Given the description of an element on the screen output the (x, y) to click on. 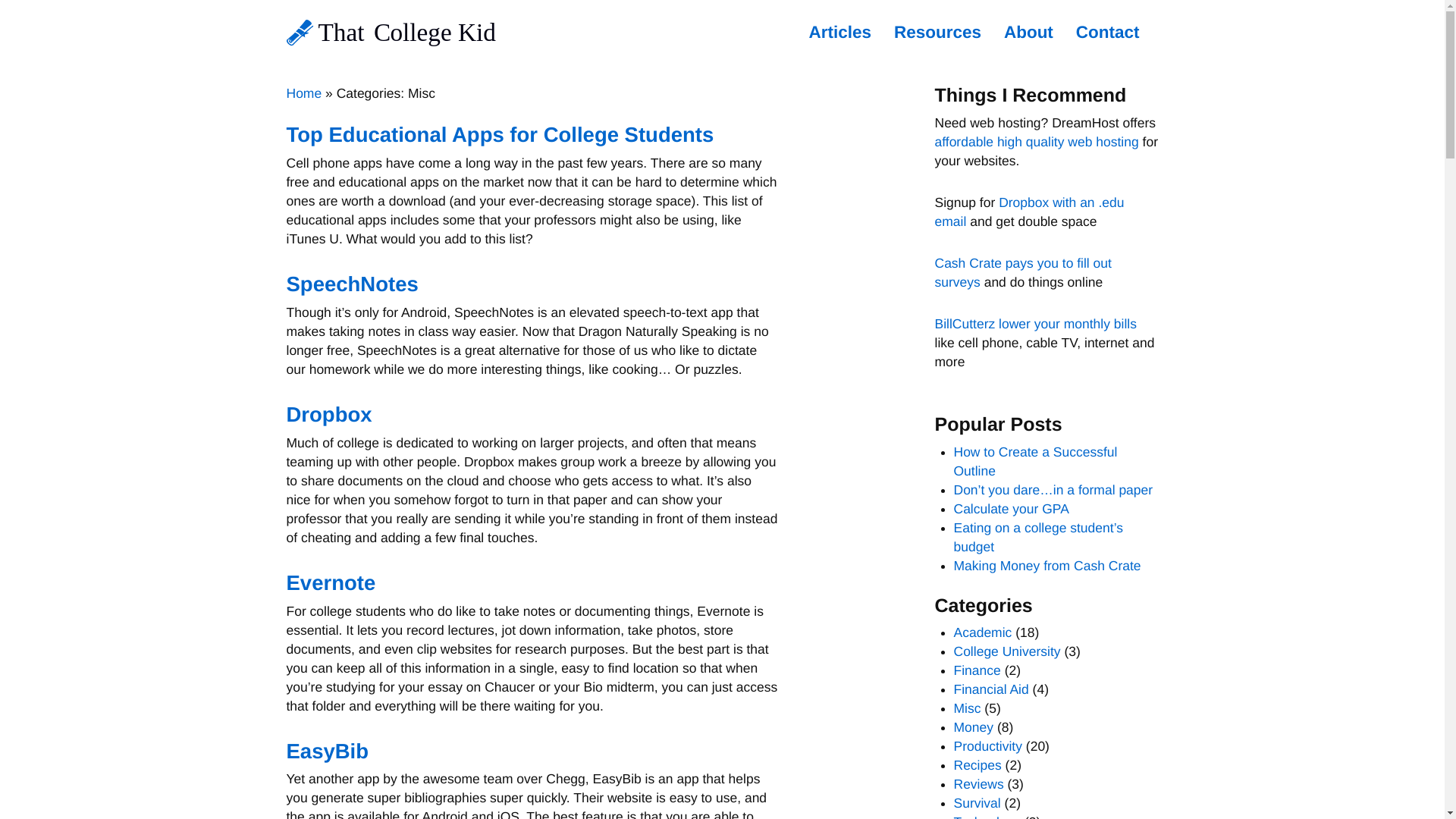
Evernote (330, 582)
Top Educational Apps for College Students (500, 134)
Home (303, 92)
Articles (840, 31)
Dropbox (329, 413)
Contact (1107, 31)
SpeechNotes (352, 283)
EasyBib (327, 750)
Resources (937, 31)
About (1028, 31)
